Given the description of an element on the screen output the (x, y) to click on. 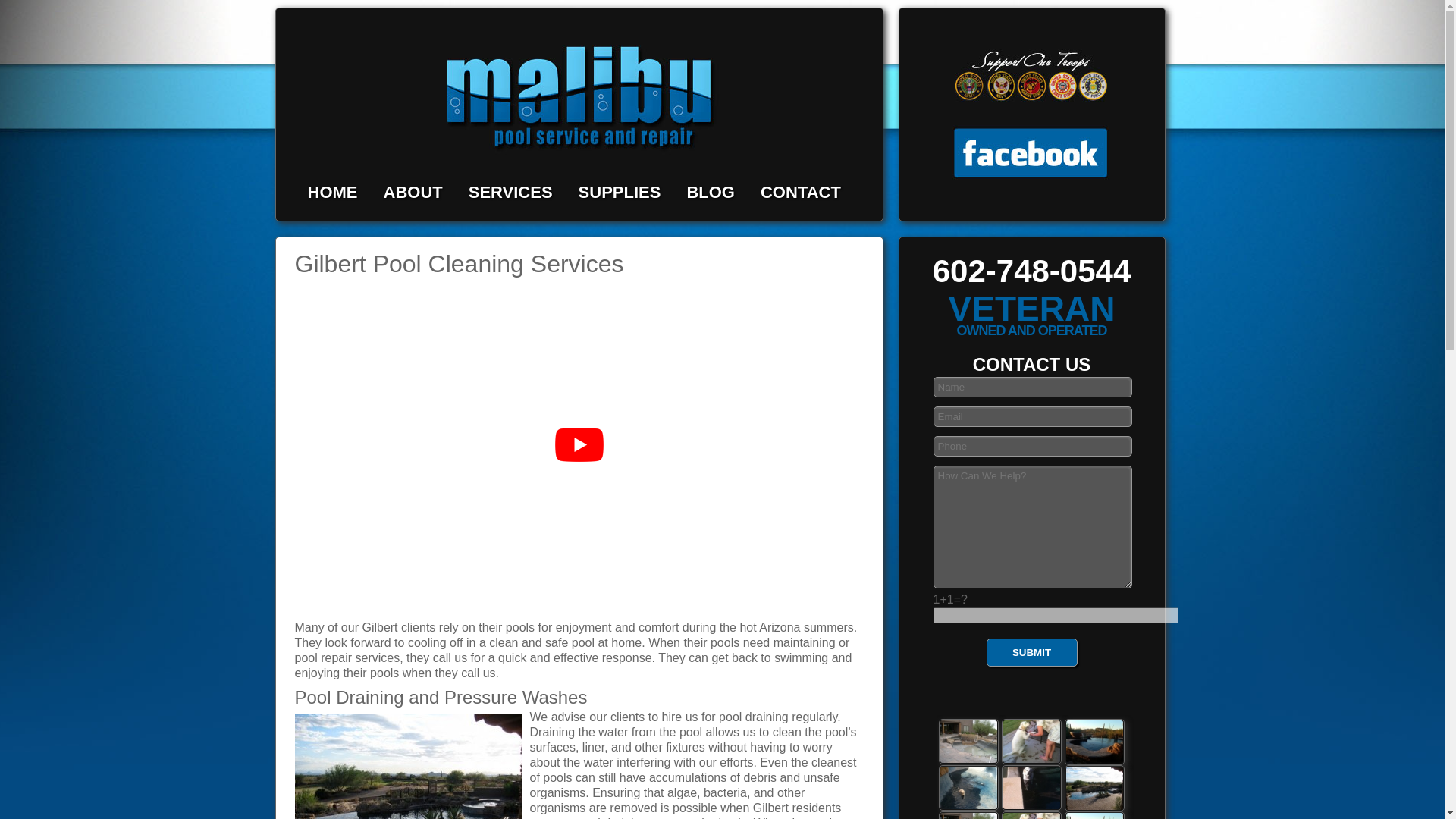
Pool Service and supply Blog (710, 191)
BLOG (710, 191)
SERVICES (510, 191)
The Home page for Malibu Pool Service AZ (332, 191)
Pool Service, Maintenance and Pool Repair (510, 191)
ABOUT (413, 191)
HOME (332, 191)
Knowledgeable Pool Service and Repair (968, 741)
SUPPLIES (619, 191)
SUBMIT (1031, 652)
Contact Malibu Pool Service AZ (800, 191)
Salt Systems Cell Cleaning and Replacement (411, 764)
SUBMIT (1031, 652)
All about Malibu Pool Service AZ (413, 191)
602-748-0544 (1030, 271)
